Given the description of an element on the screen output the (x, y) to click on. 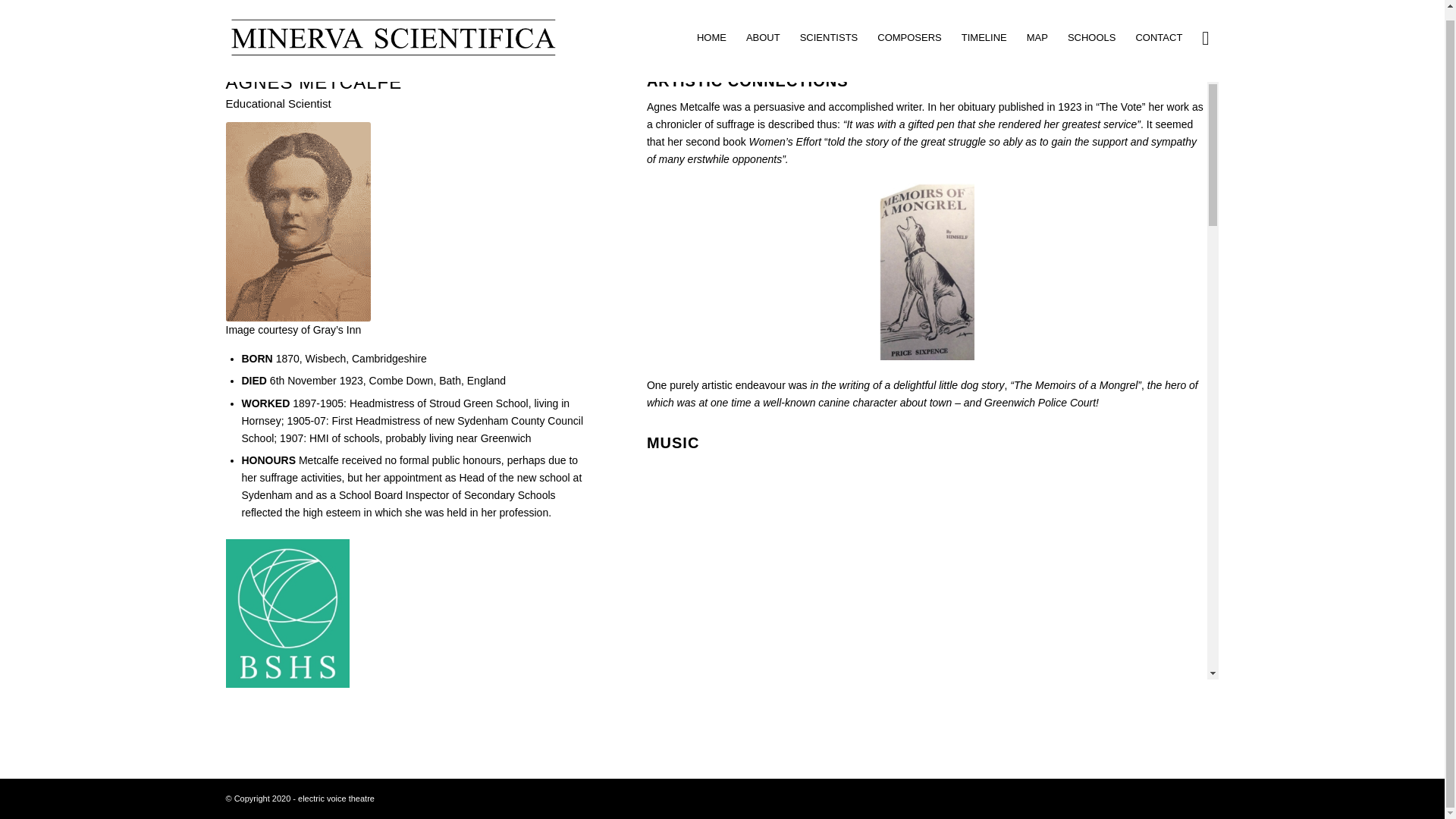
ABOUT (763, 28)
SCIENTISTS (828, 28)
Minerva-Scientifica-black (392, 28)
HOME (711, 28)
Agnes Metcalfe (298, 221)
